Given the description of an element on the screen output the (x, y) to click on. 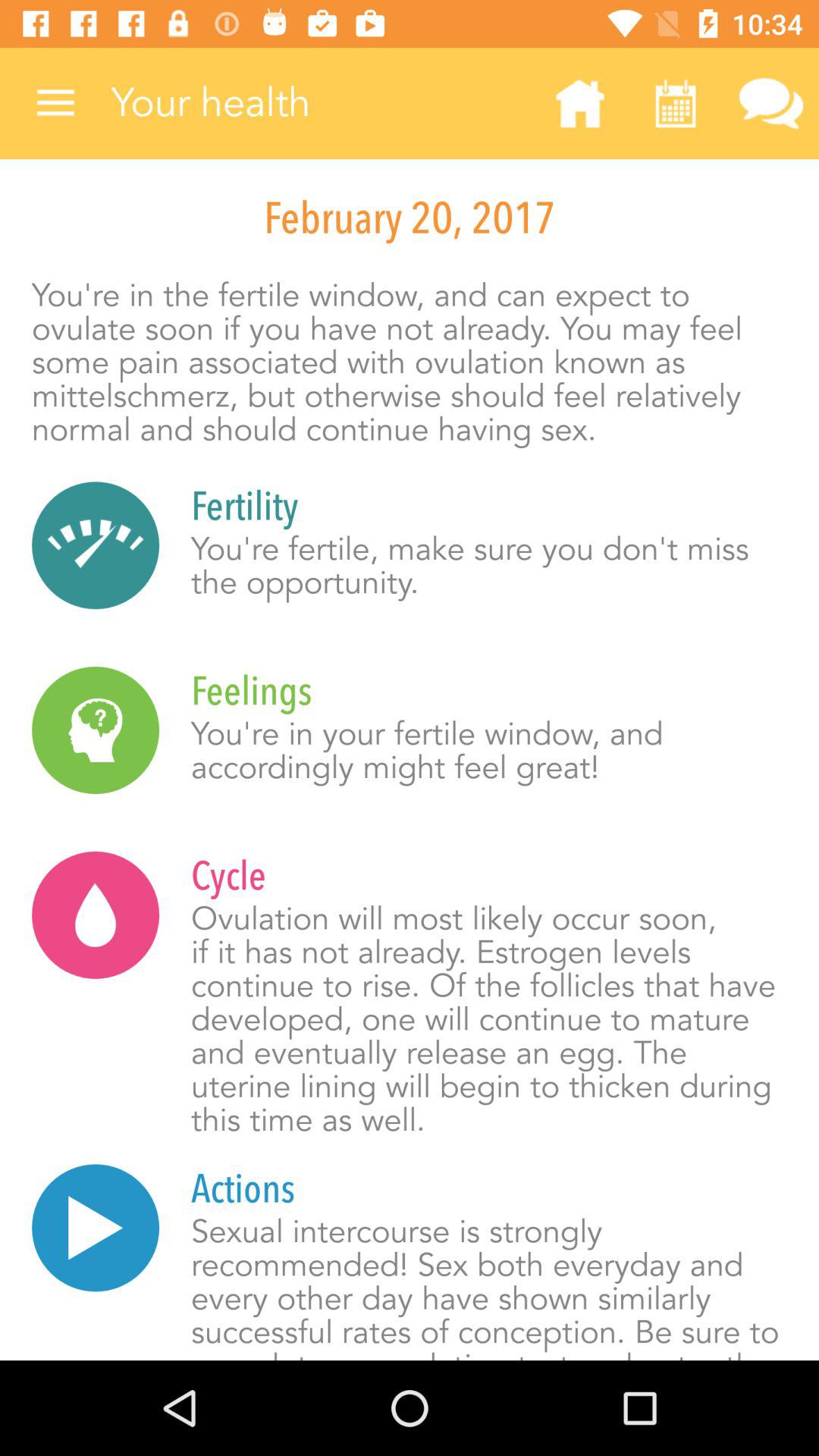
launch the item above february 20, 2017 icon (675, 103)
